Given the description of an element on the screen output the (x, y) to click on. 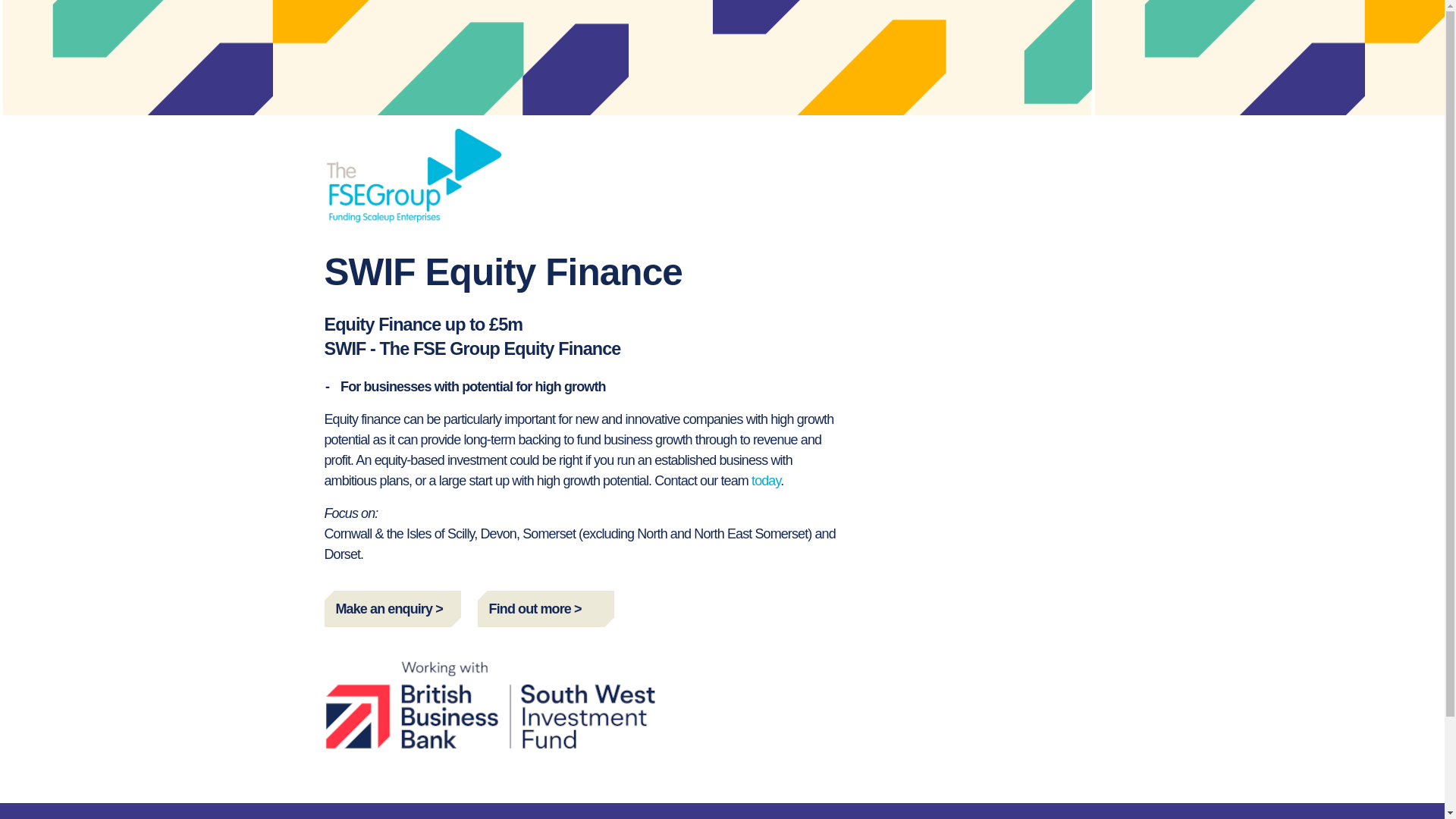
Find out more (545, 608)
Make an enquiry (392, 608)
Fund Manager: The FSE Group (413, 174)
today (765, 480)
